Given the description of an element on the screen output the (x, y) to click on. 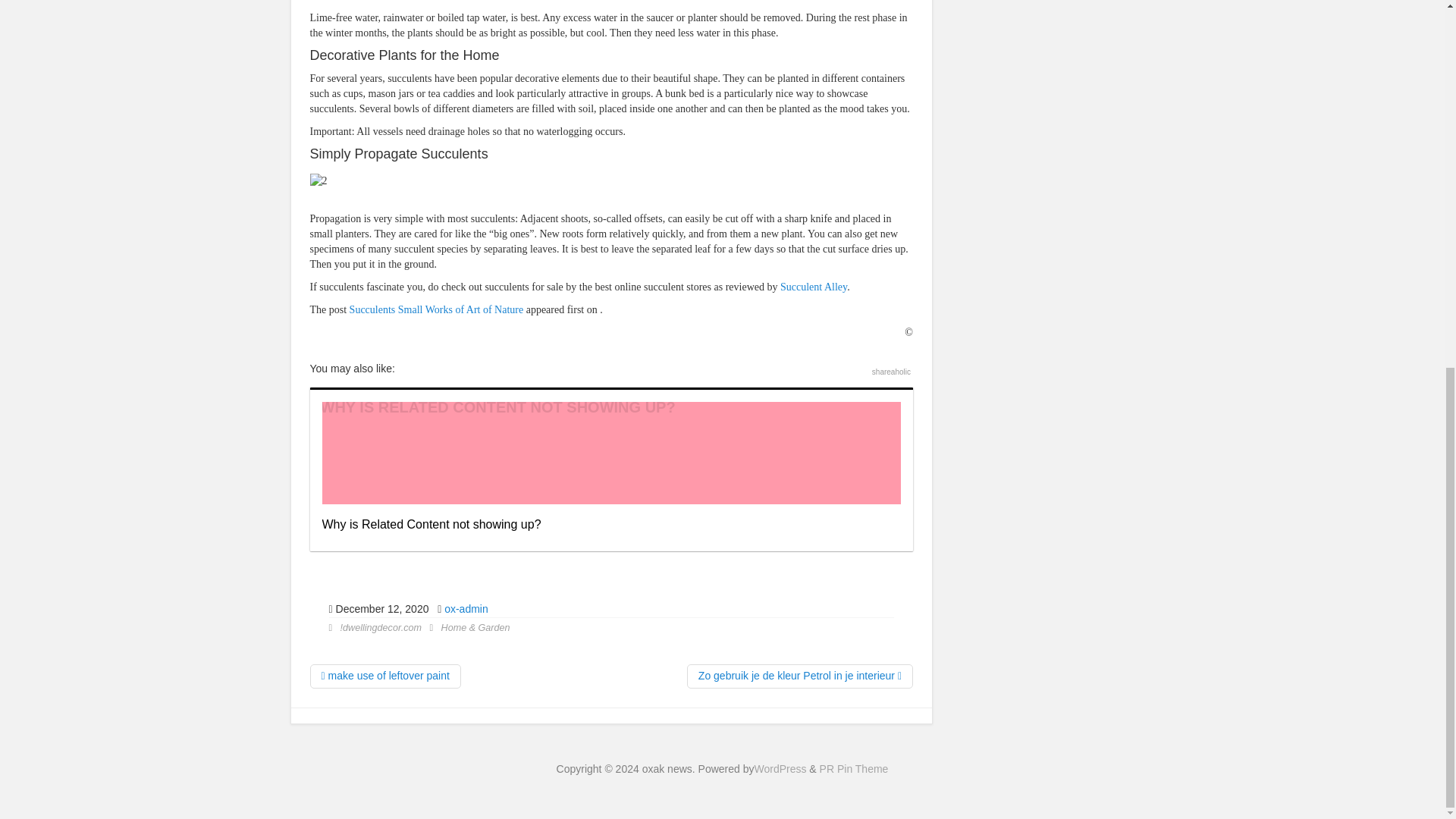
PR Pin Theme (853, 768)
!dwellingdecor.com (381, 627)
Succulents Small Works of Art of Nature (436, 309)
WordPress (780, 768)
Zo gebruik je de kleur Petrol in je interieur (799, 676)
Why is Related Content not showing up? (610, 469)
Posts by ox-admin (465, 608)
Succulent Alley (813, 286)
ox-admin (465, 608)
shareaholic (891, 371)
PR Pin Theme (853, 768)
Website Tools by Shareaholic (891, 371)
WordPress (780, 768)
make use of leftover paint (384, 676)
